Given the description of an element on the screen output the (x, y) to click on. 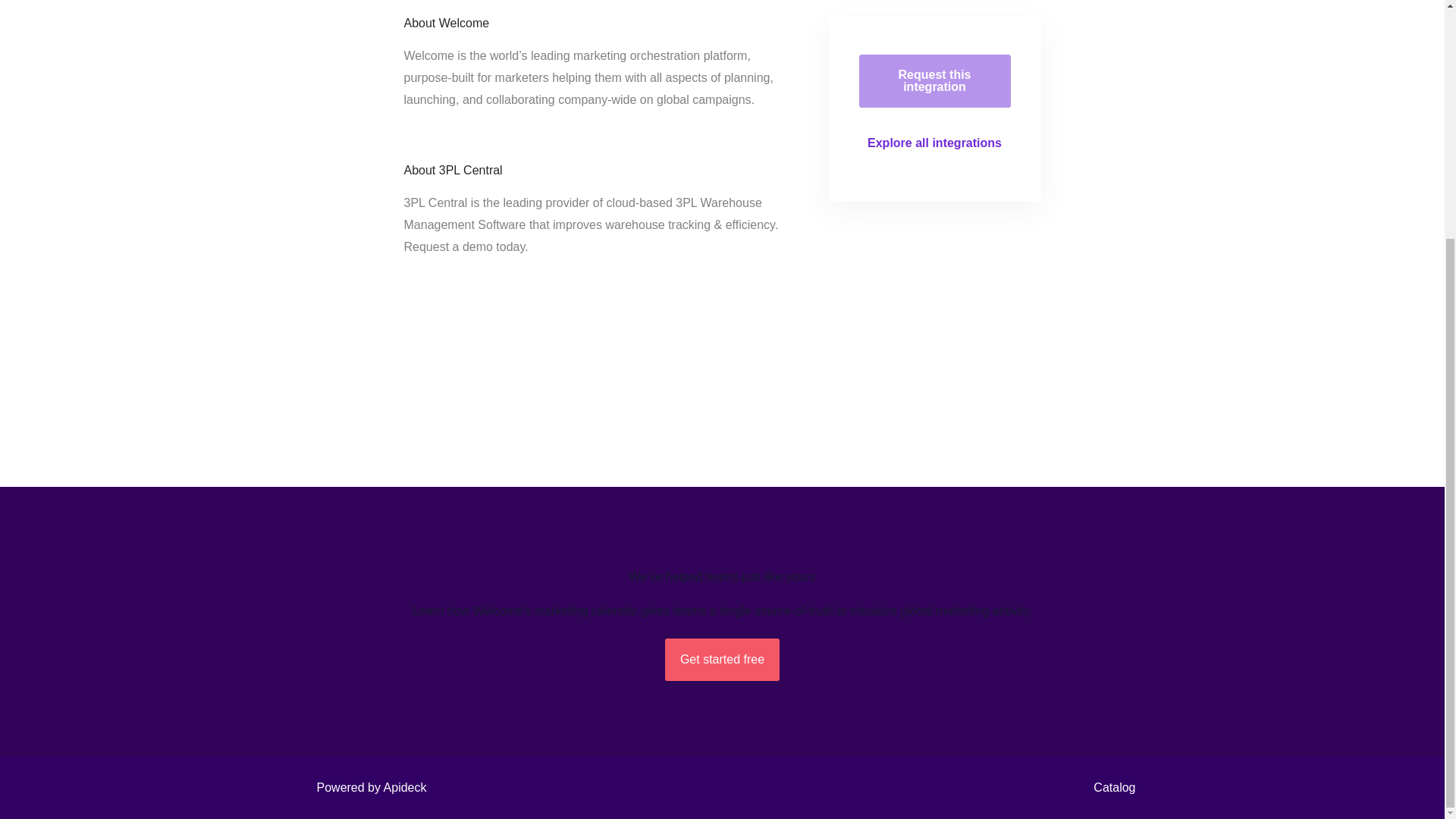
Catalog (1109, 787)
Explore all integrations (934, 142)
Request this integration (934, 80)
Powered by Apideck (366, 787)
Get started free (721, 659)
